Given the description of an element on the screen output the (x, y) to click on. 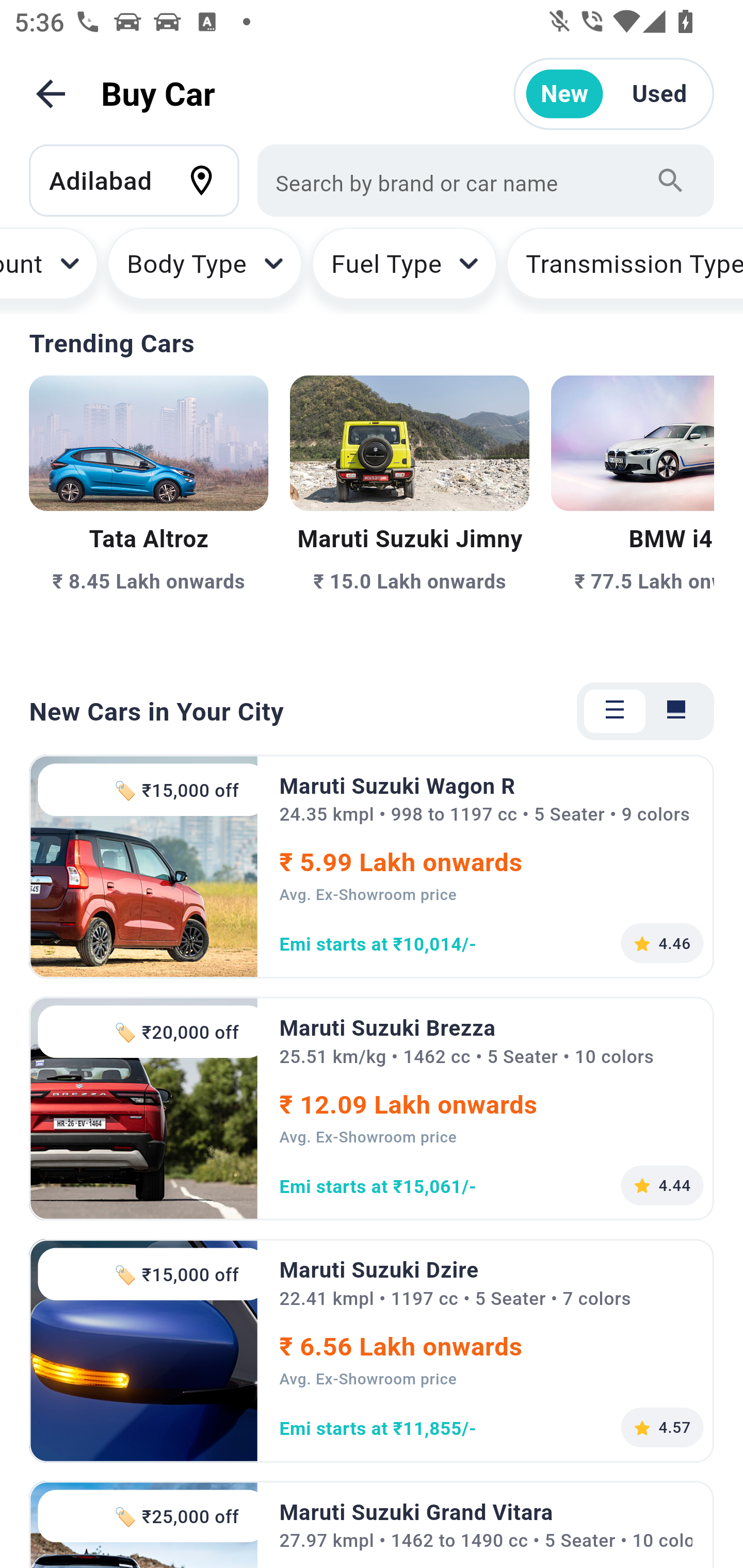
Back (50, 93)
New (564, 93)
Used (659, 93)
Adilabad (142, 180)
Discount (49, 270)
Body Type (204, 270)
Fuel Type (404, 270)
Transmission Type (624, 270)
₹ 8.45 Lakh onwards Tata Altroz (148, 515)
₹ 15.0 Lakh onwards Maruti Suzuki Jimny (409, 515)
₹ 77.5 Lakh onwards BMW i4 (632, 515)
Tab 1 of 2 (614, 710)
Tab 2 of 2 (675, 710)
